Given the description of an element on the screen output the (x, y) to click on. 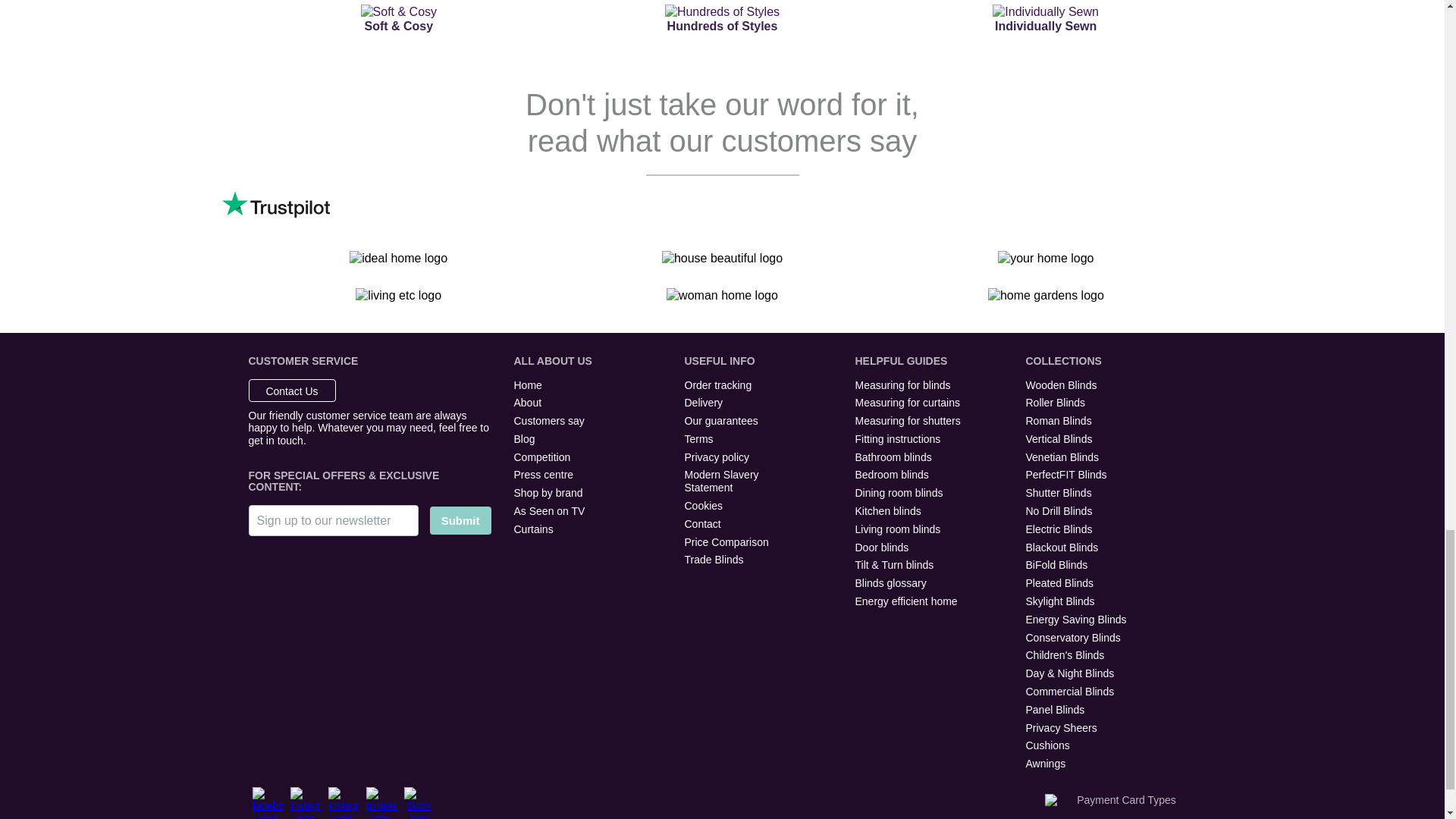
Submit (460, 520)
